Given the description of an element on the screen output the (x, y) to click on. 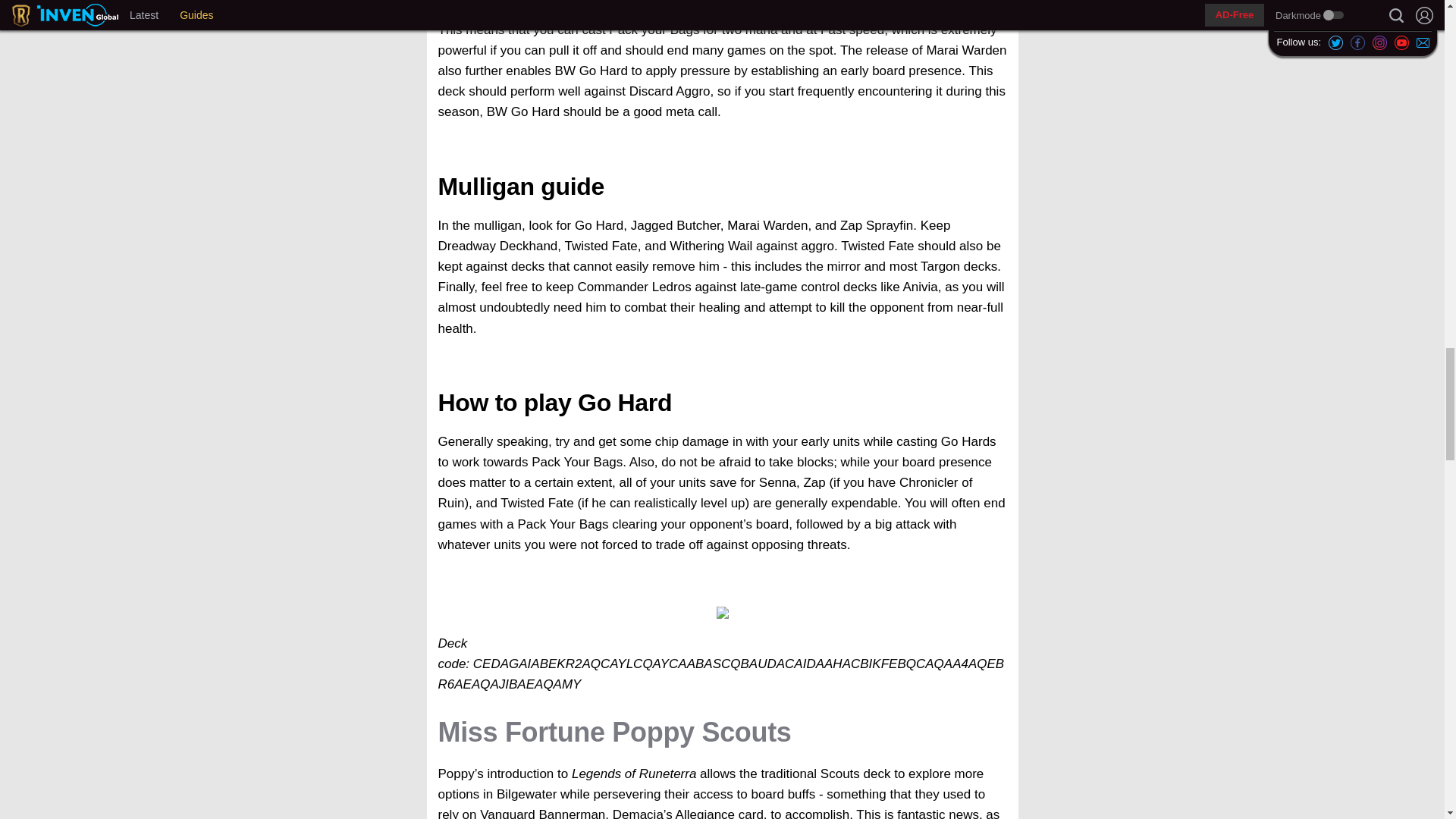
Miss Fortune Poppy Scouts (615, 731)
